Given the description of an element on the screen output the (x, y) to click on. 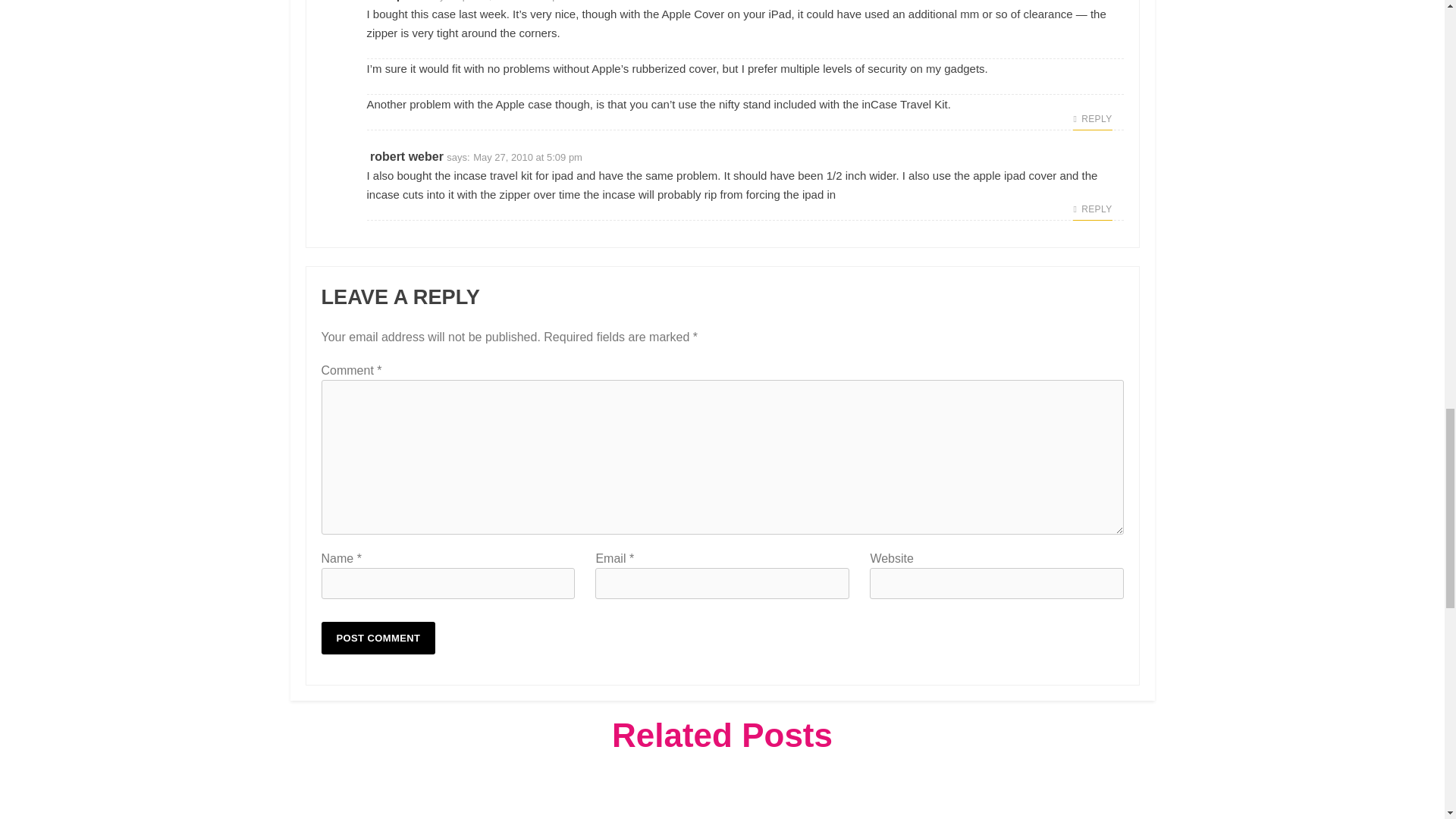
Post Comment (378, 637)
